Given the description of an element on the screen output the (x, y) to click on. 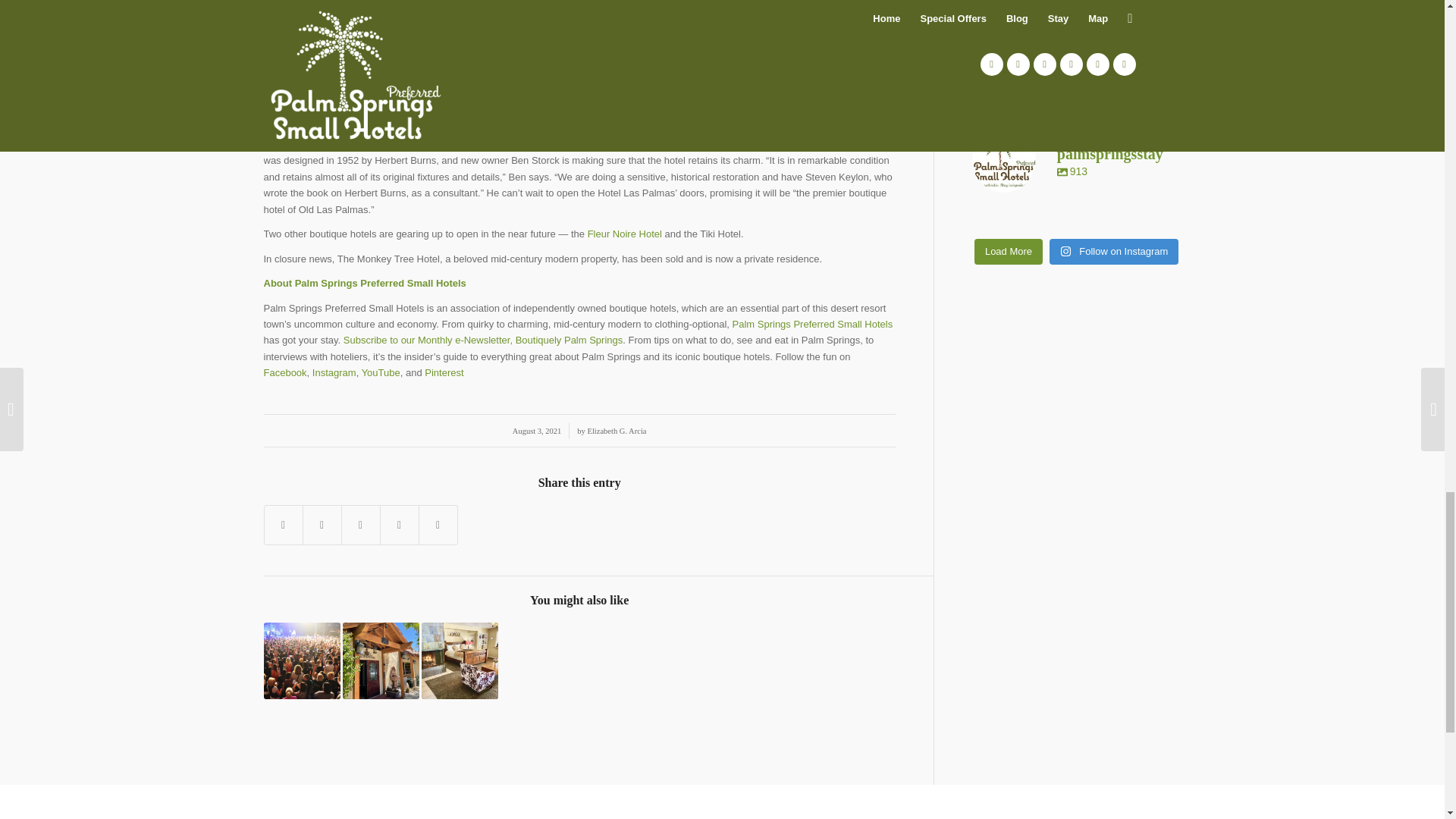
YouTube (380, 372)
Palm Springs Preferred Small Hotels (812, 324)
Posts by Elizabeth G. Arcia (617, 430)
Facebook (285, 372)
Fleur Noire Hotel (625, 233)
Elizabeth G. Arcia (617, 430)
Pinterest (444, 372)
Instagram (334, 372)
